Given the description of an element on the screen output the (x, y) to click on. 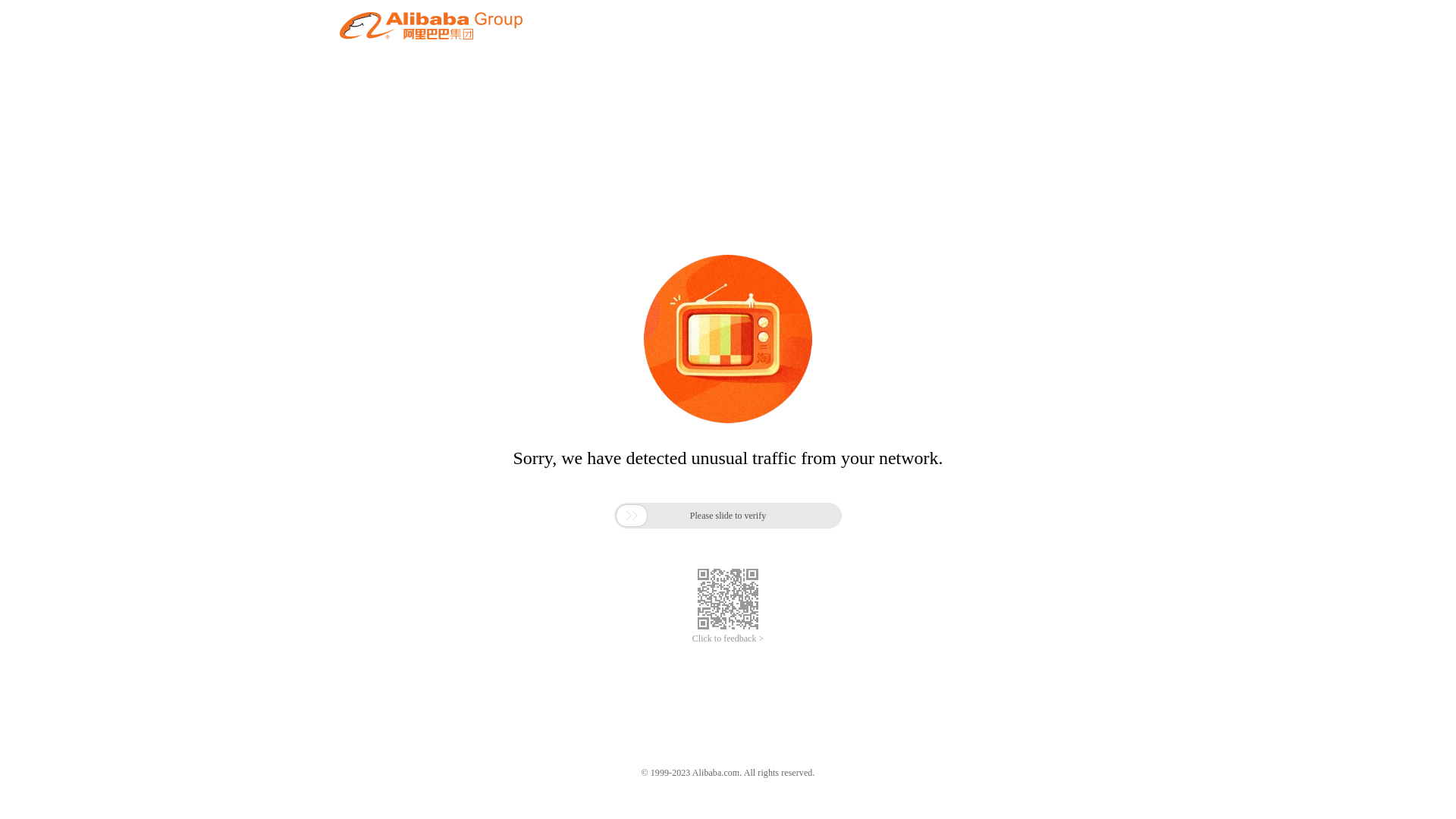
Click to feedback > Element type: text (727, 638)
